Given the description of an element on the screen output the (x, y) to click on. 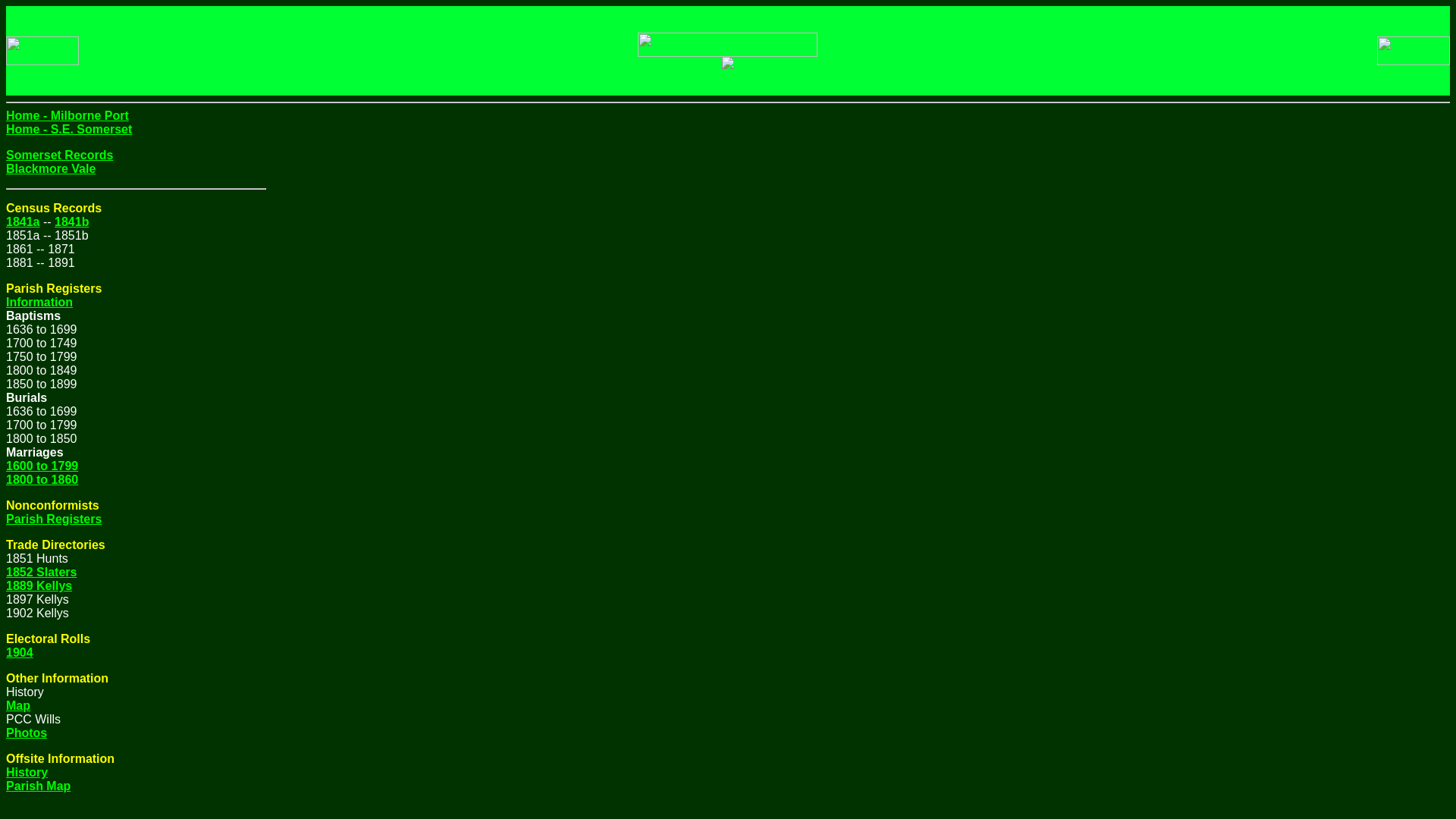
Photos (25, 732)
Map (17, 705)
1889 Kellys (38, 585)
1841b (71, 221)
Home - S.E. Somerset (68, 128)
1852 Slaters (41, 571)
Somerset Records (59, 154)
1600 to 1799 (41, 465)
Home - Milborne Port (67, 115)
Information (38, 301)
1841a (22, 221)
1800 to 1860 (41, 479)
1904 (19, 652)
Blackmore Vale (50, 168)
History (26, 771)
